Given the description of an element on the screen output the (x, y) to click on. 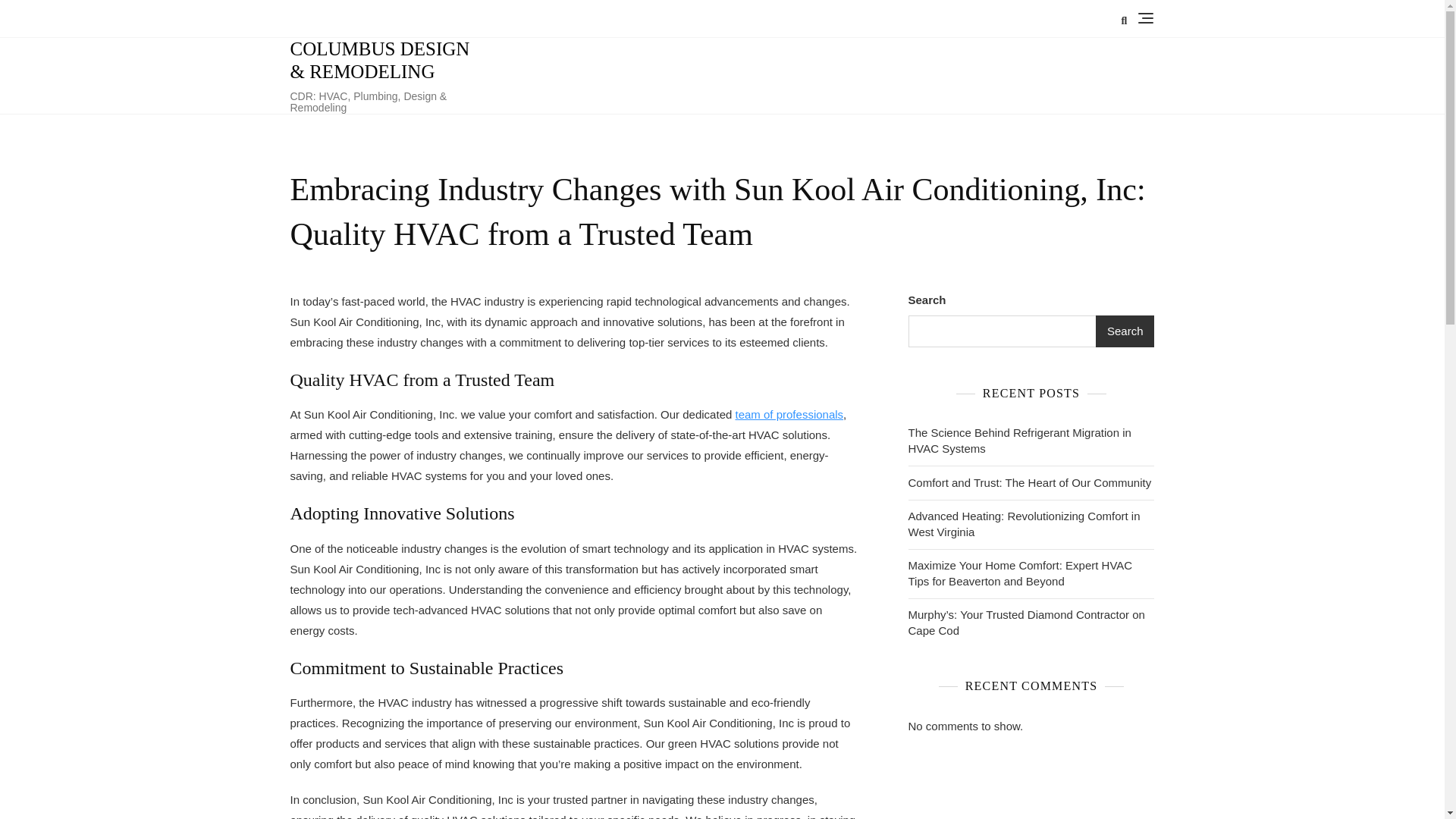
Search (1125, 331)
The Science Behind Refrigerant Migration in HVAC Systems (1031, 440)
Comfort and Trust: The Heart of Our Community (1029, 482)
team of professionals (789, 413)
